Given the description of an element on the screen output the (x, y) to click on. 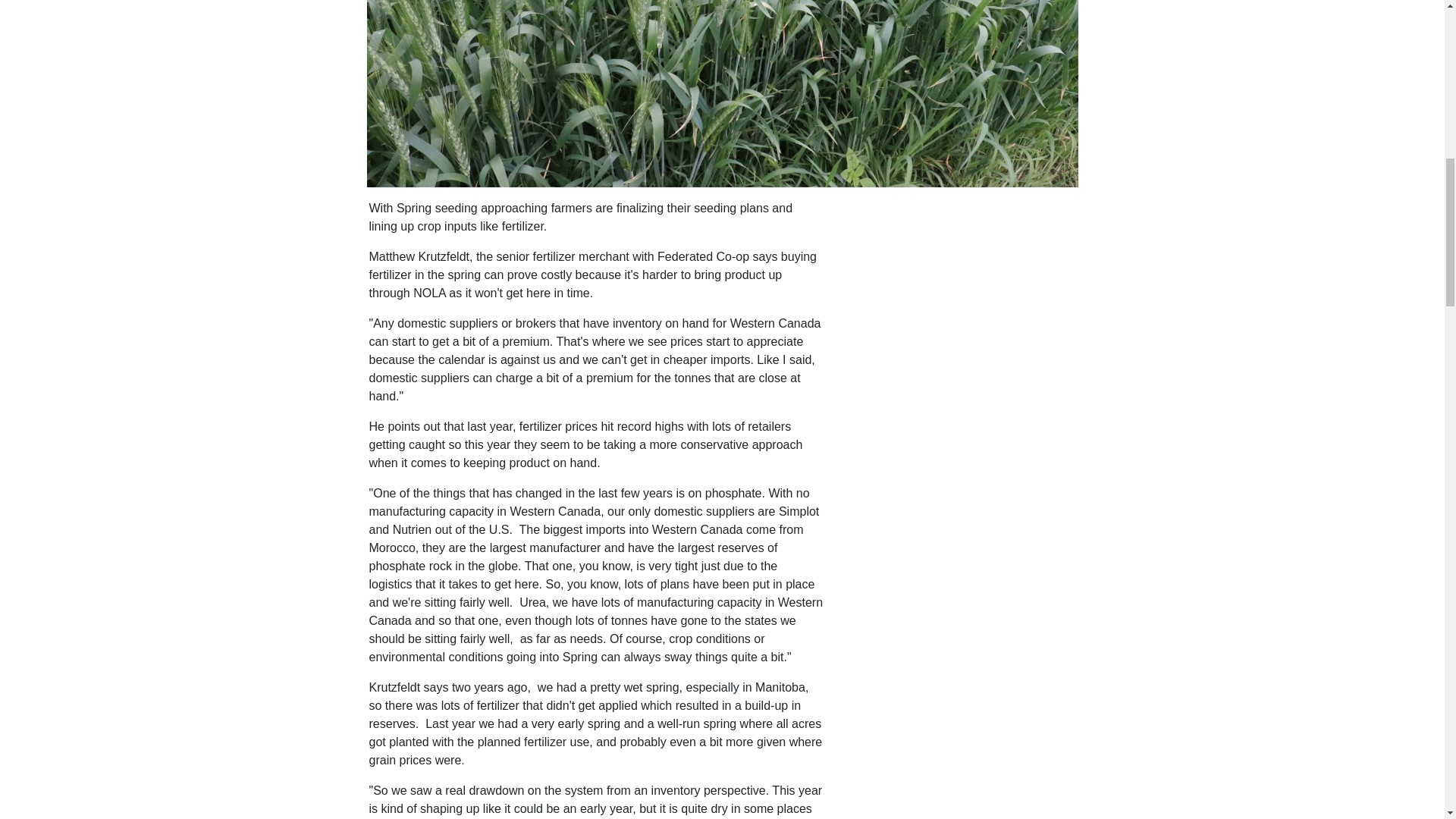
3rd party ad content (961, 765)
3rd party ad content (961, 294)
3rd party ad content (961, 549)
